Given the description of an element on the screen output the (x, y) to click on. 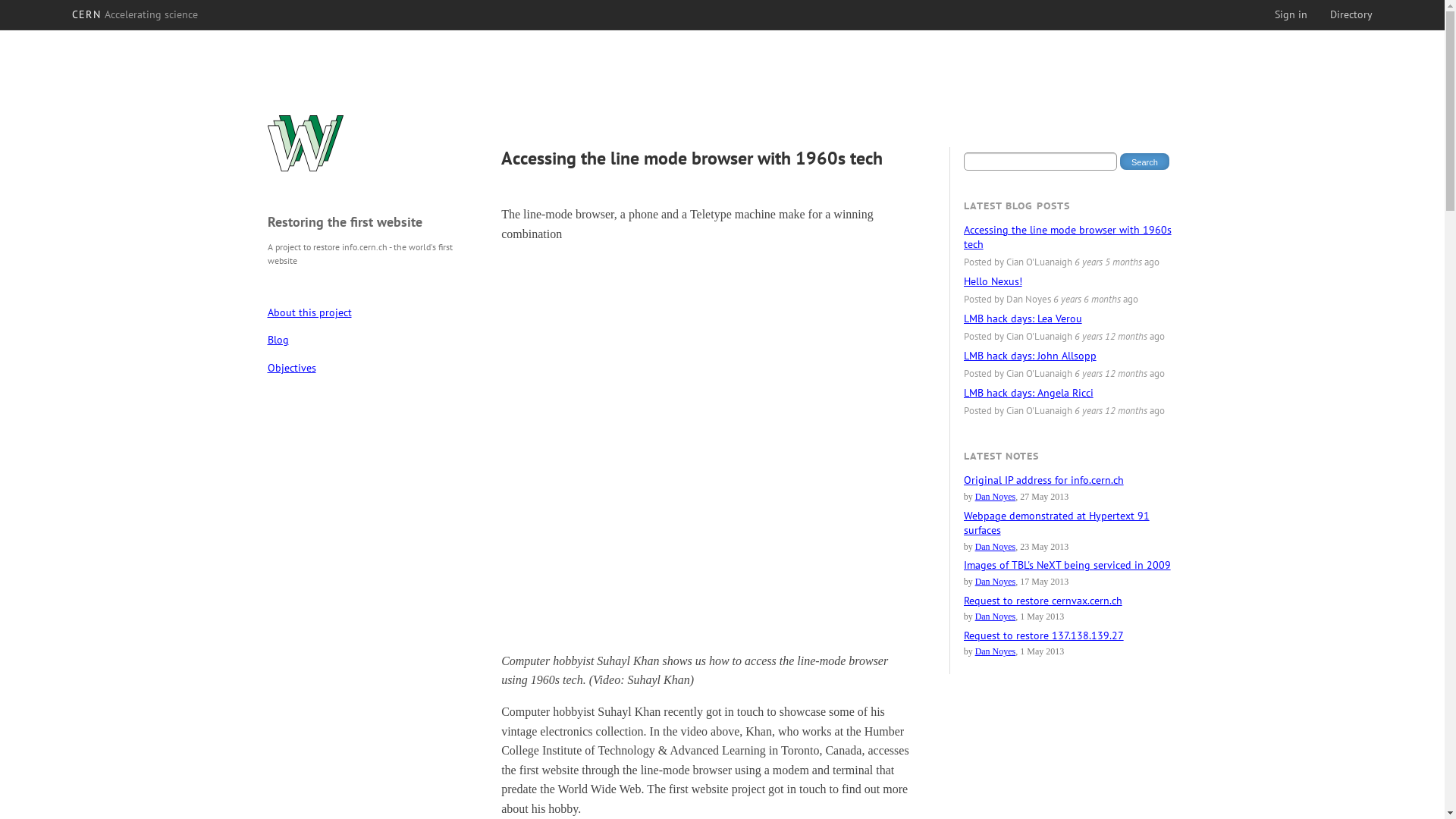
Enter the terms you wish to search for. Element type: hover (1040, 161)
Sign in Element type: text (1290, 14)
Request to restore cernvax.cern.ch Element type: text (1042, 600)
Dan Noyes Element type: text (995, 496)
Dan Noyes Element type: text (995, 581)
Accessing the line mode browser with 1960s tech Element type: text (1067, 236)
LMB hack days: Angela Ricci Element type: text (1028, 392)
LMB hack days: John Allsopp Element type: text (1029, 355)
Restoring the first website Element type: text (343, 221)
Request to restore 137.138.139.27 Element type: text (1043, 635)
Original IP address for info.cern.ch Element type: text (1043, 479)
Blog Element type: text (368, 339)
Webpage demonstrated at Hypertext 91 surfaces Element type: text (1056, 522)
Hello Nexus! Element type: text (992, 281)
Images of TBL's NeXT being serviced in 2009 Element type: text (1066, 564)
Home Element type: hover (304, 148)
Search Element type: text (1144, 161)
Directory Element type: text (1351, 14)
Objectives Element type: text (368, 367)
CERN Accelerating science Element type: text (134, 14)
Dan Noyes Element type: text (995, 616)
Dan Noyes Element type: text (995, 546)
Dan Noyes Element type: text (995, 651)
LMB hack days: Lea Verou Element type: text (1022, 318)
About this project Element type: text (368, 312)
